Given the description of an element on the screen output the (x, y) to click on. 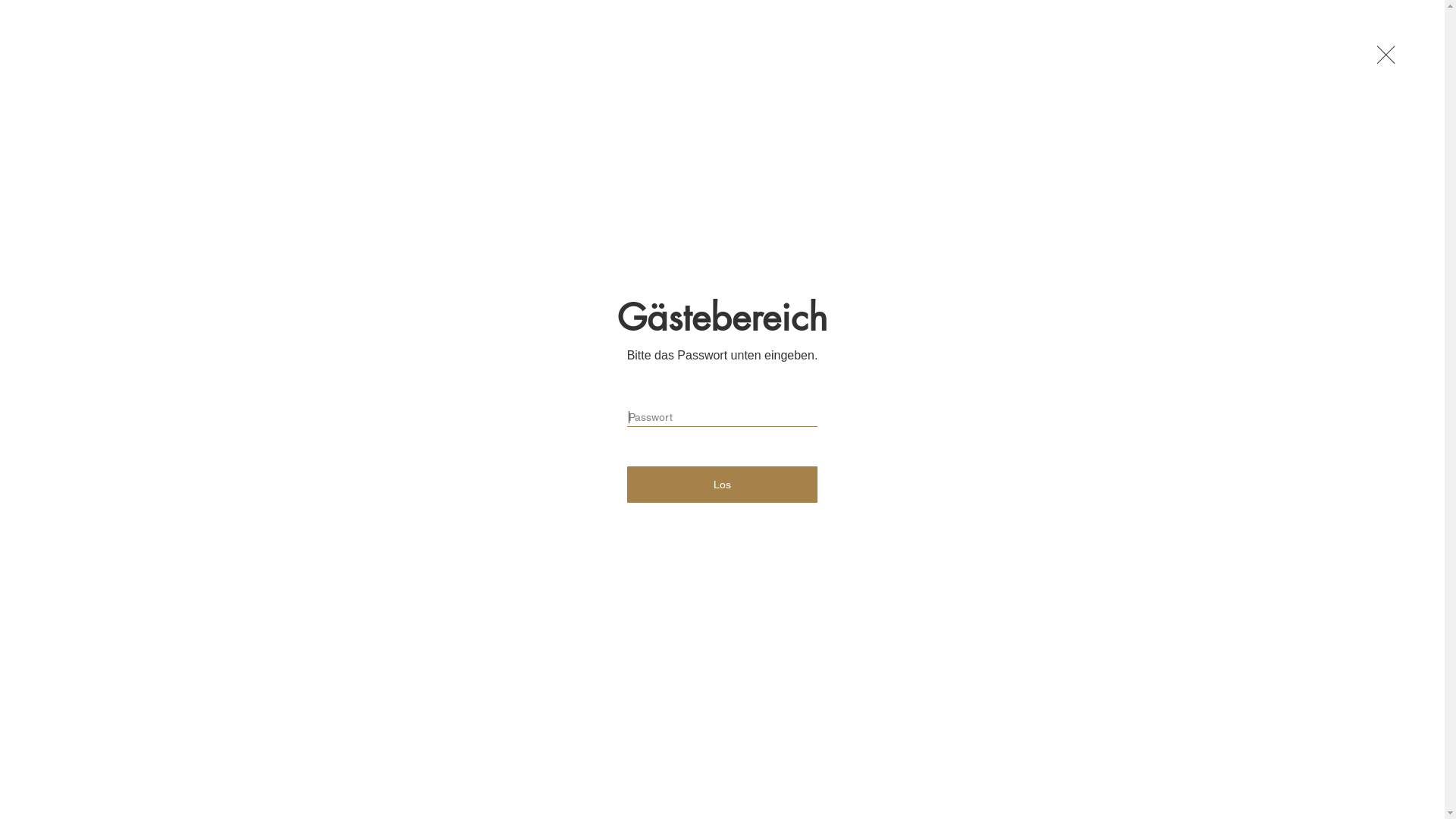
Los Element type: text (722, 484)
